Given the description of an element on the screen output the (x, y) to click on. 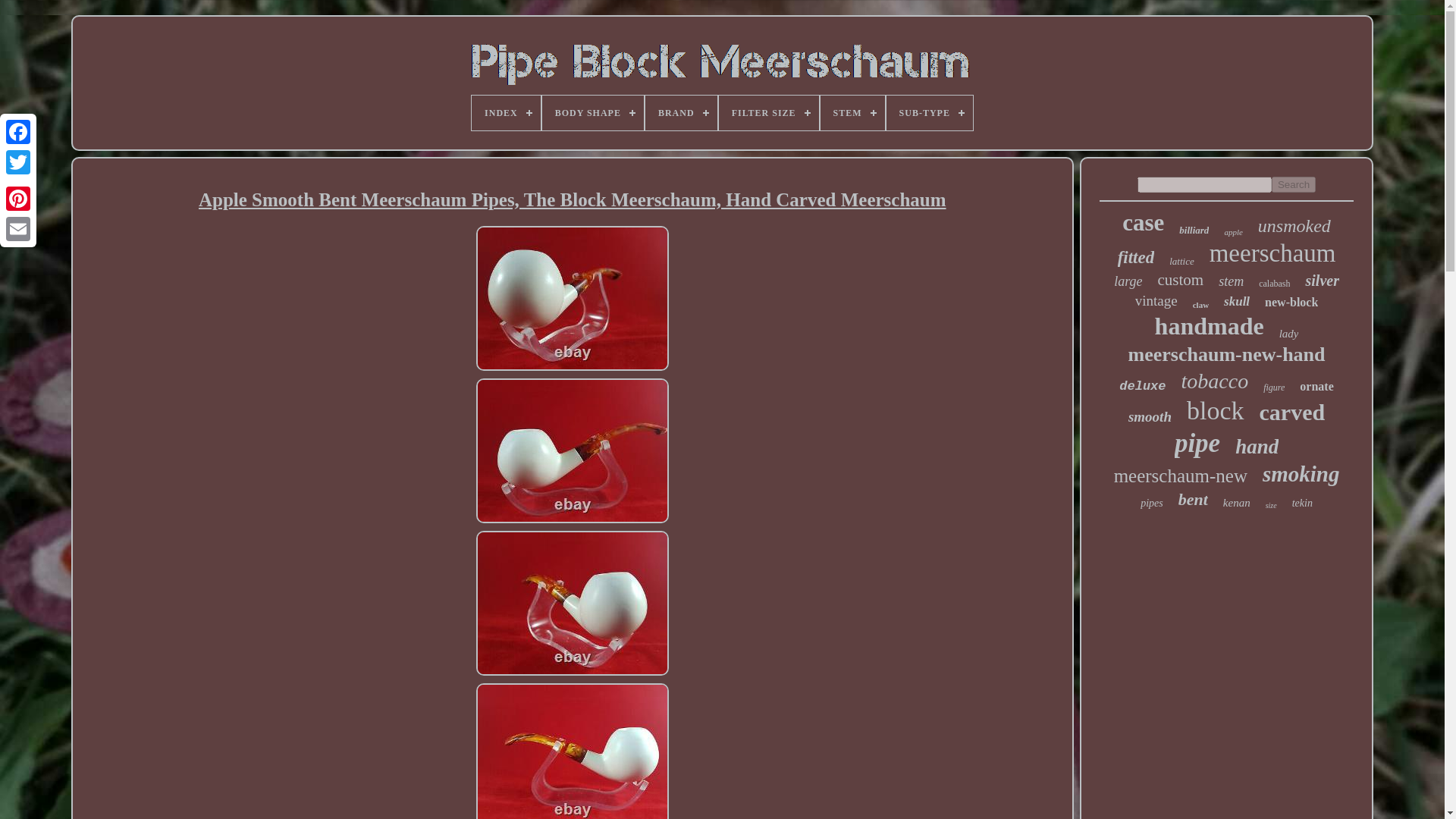
INDEX (505, 112)
BODY SHAPE (592, 112)
BRAND (681, 112)
Search (1293, 184)
